Given the description of an element on the screen output the (x, y) to click on. 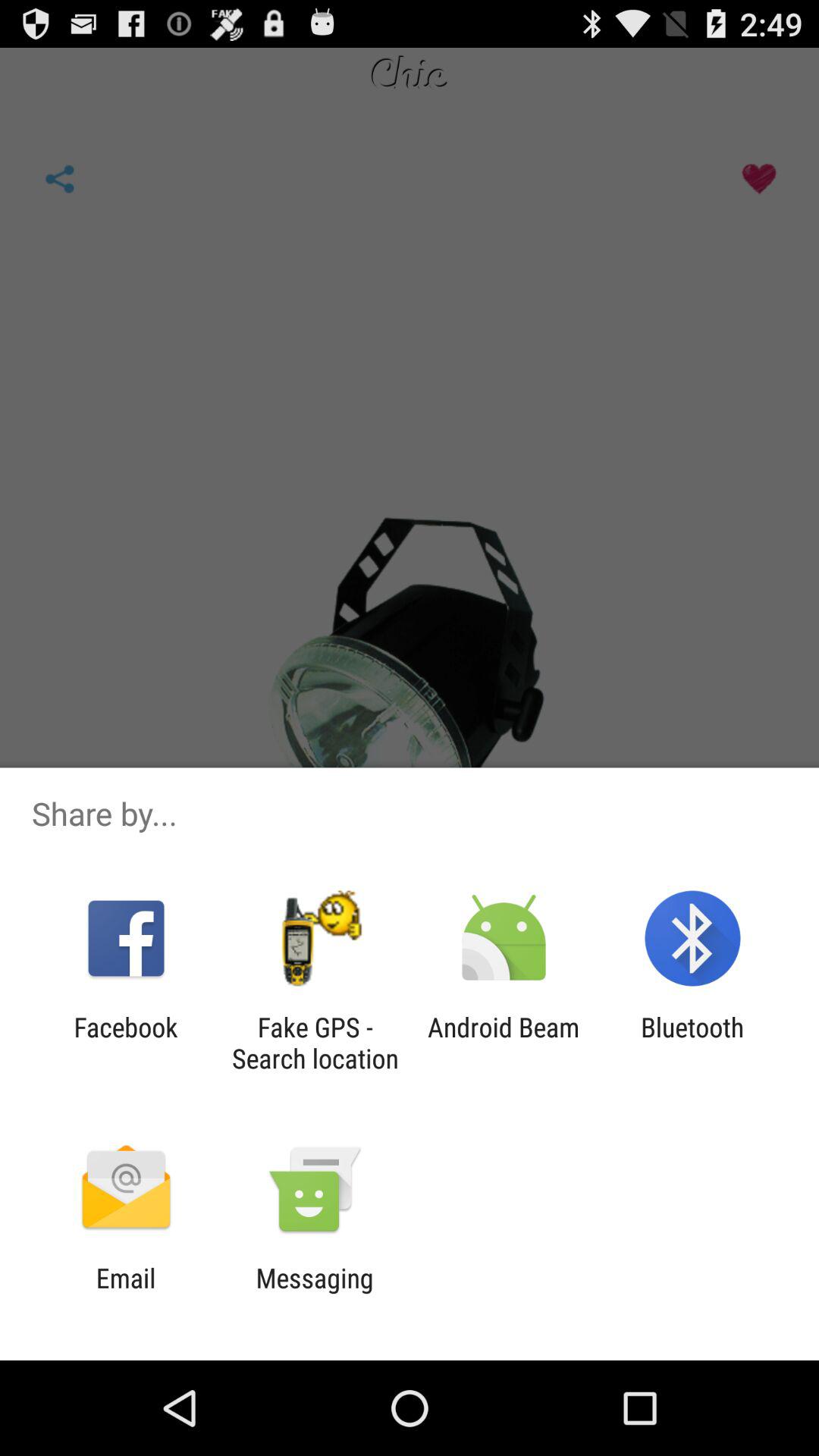
click icon to the left of messaging app (125, 1293)
